Given the description of an element on the screen output the (x, y) to click on. 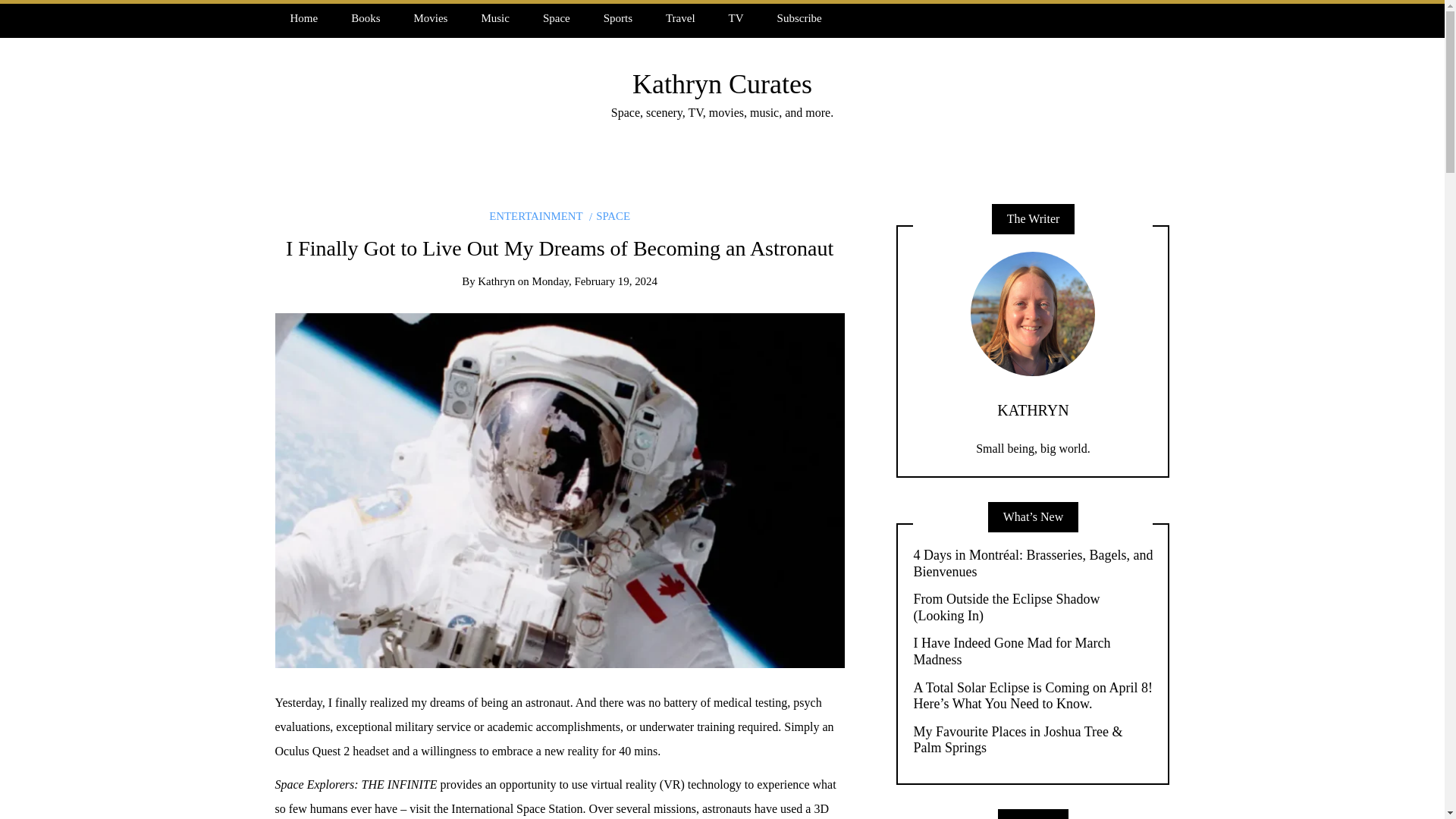
Monday, February 19, 2024 (594, 281)
Subscribe (799, 18)
Sports (617, 18)
Books (365, 18)
TV (735, 18)
Home (304, 18)
Music (494, 18)
Travel (680, 18)
Movies (430, 18)
Space (556, 18)
ENTERTAINMENT (535, 215)
SPACE (609, 215)
Kathryn (496, 281)
Kathryn Curates (721, 83)
